Given the description of an element on the screen output the (x, y) to click on. 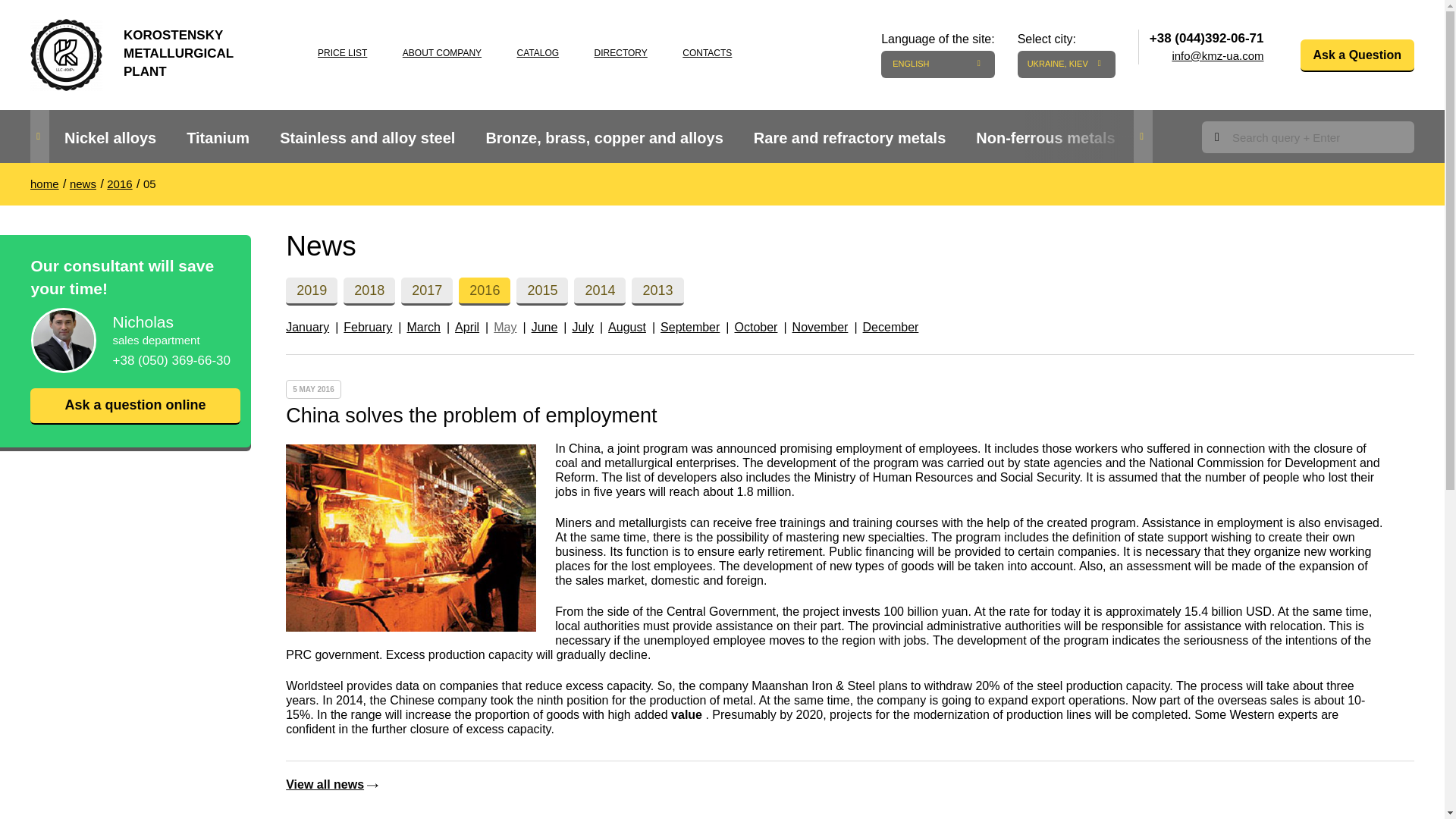
CONTACTS (707, 52)
DIRECTORY (620, 52)
ABOUT COMPANY (442, 52)
PRICE LIST (341, 52)
Nickel alloys (110, 138)
CATALOG (537, 52)
KOROSTENSKY METALLURGICAL PLANT (147, 49)
Ask a Question (1356, 55)
